Given the description of an element on the screen output the (x, y) to click on. 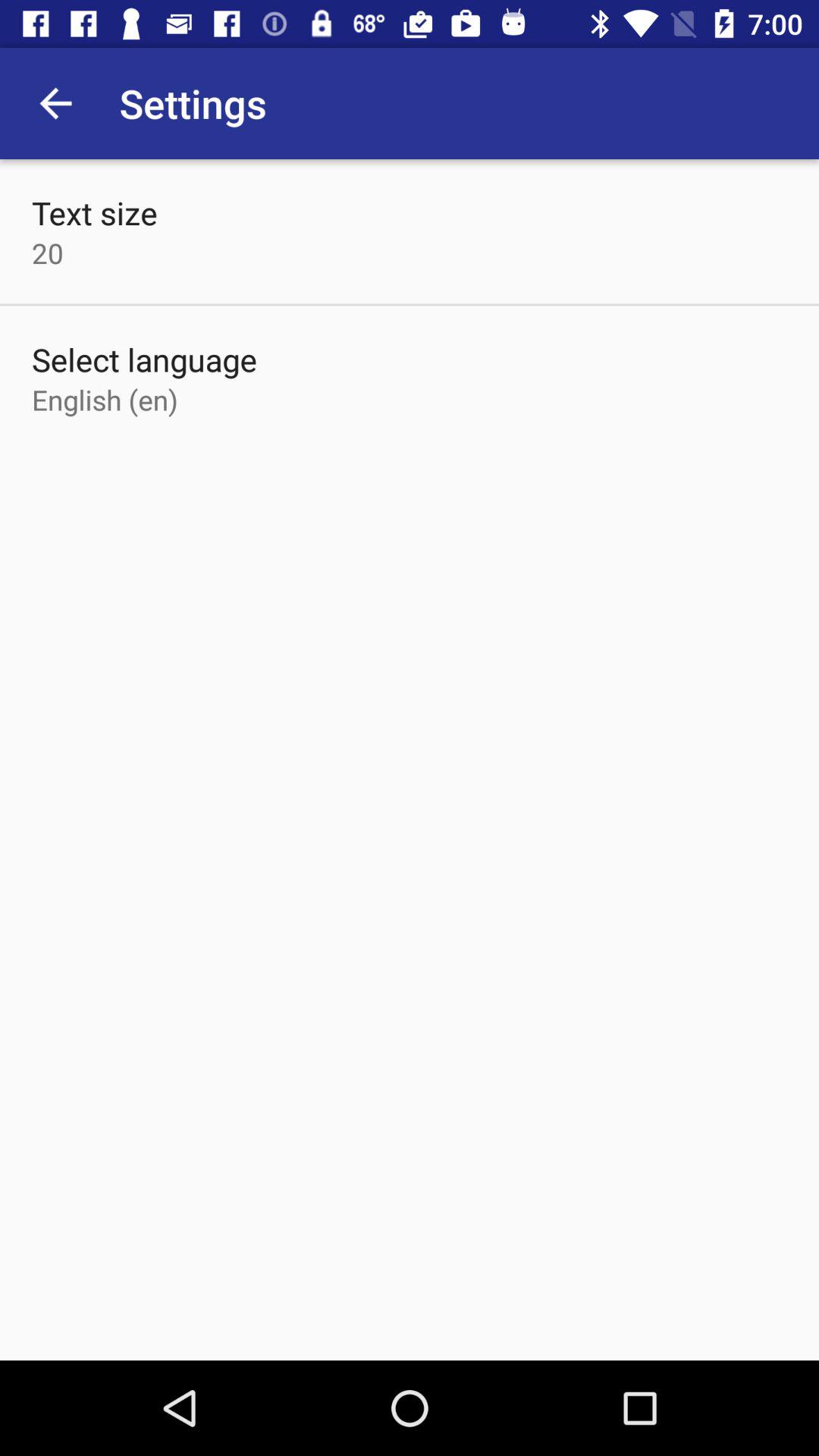
open the icon above text size item (55, 103)
